Given the description of an element on the screen output the (x, y) to click on. 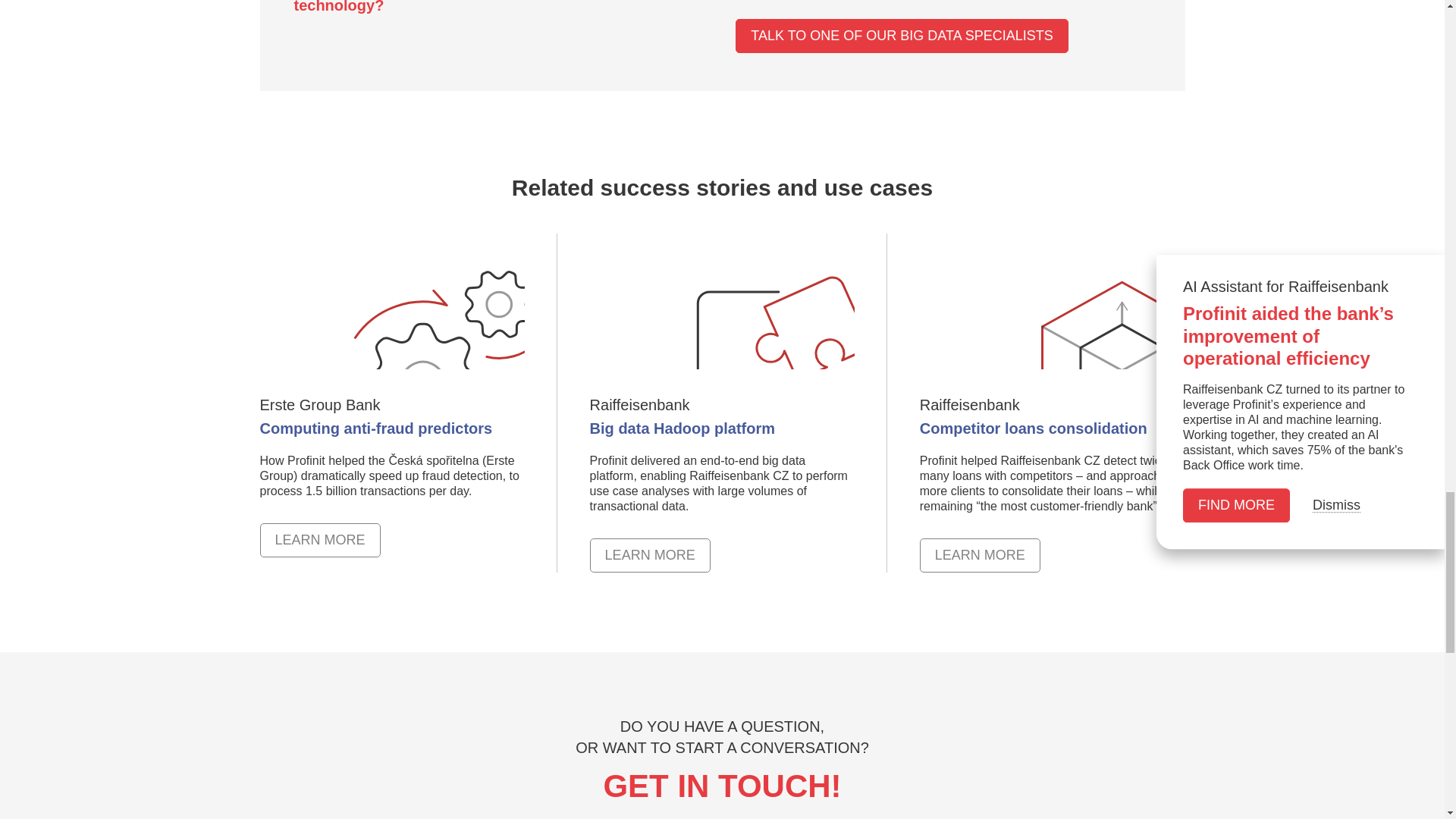
Competitor loans consolidation (980, 555)
Computing anti-fraud predictors (1052, 416)
LEARN MORE (319, 540)
LEARN MORE (722, 416)
LEARN MORE (649, 555)
Big data Hadoop platform (391, 416)
TALK TO ONE OF OUR BIG DATA SPECIALISTS (980, 555)
